Given the description of an element on the screen output the (x, y) to click on. 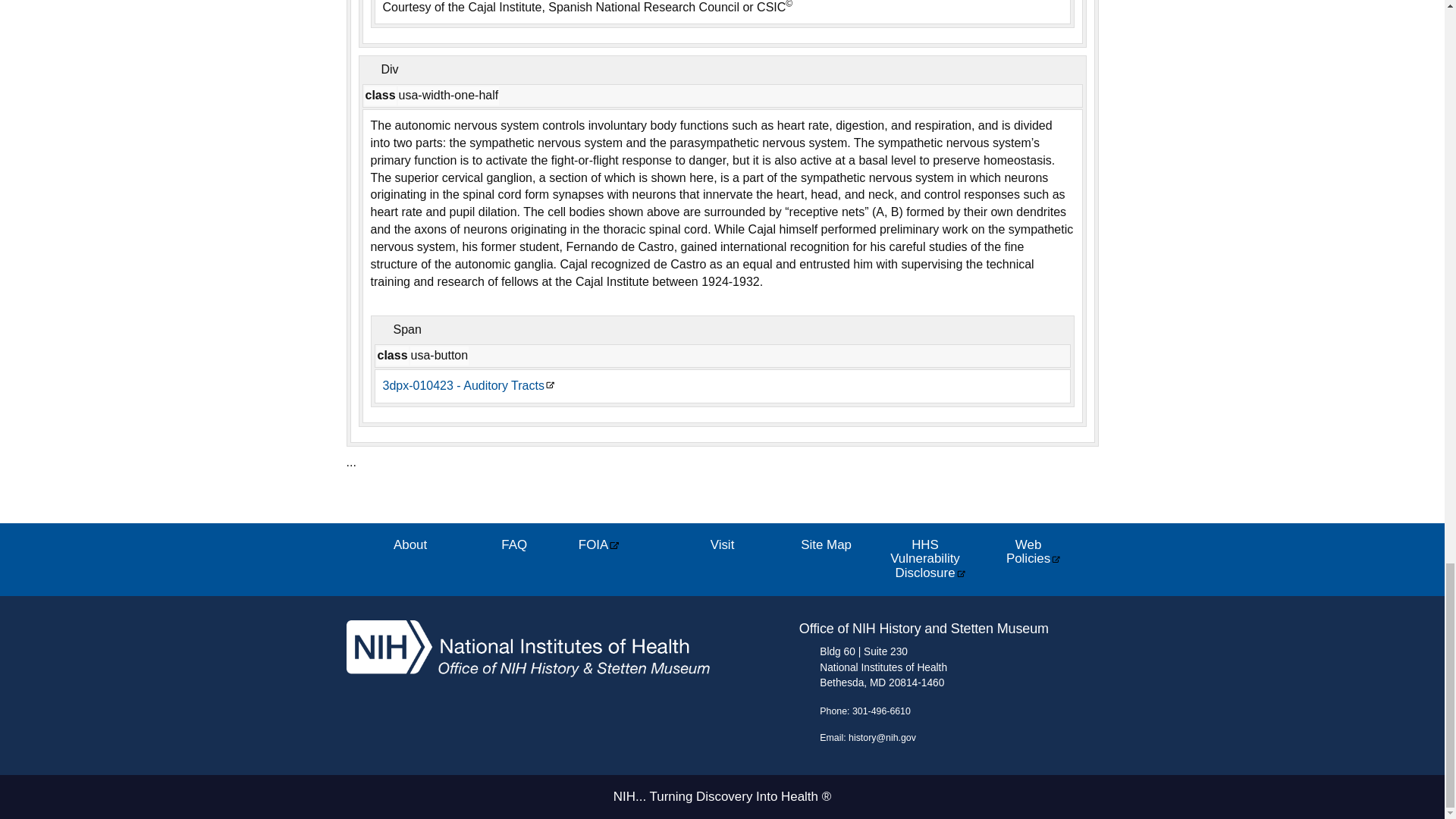
Home (528, 676)
About (409, 545)
3dpx-010423 - Auditory Tracts (467, 385)
Return to top (360, 501)
